Given the description of an element on the screen output the (x, y) to click on. 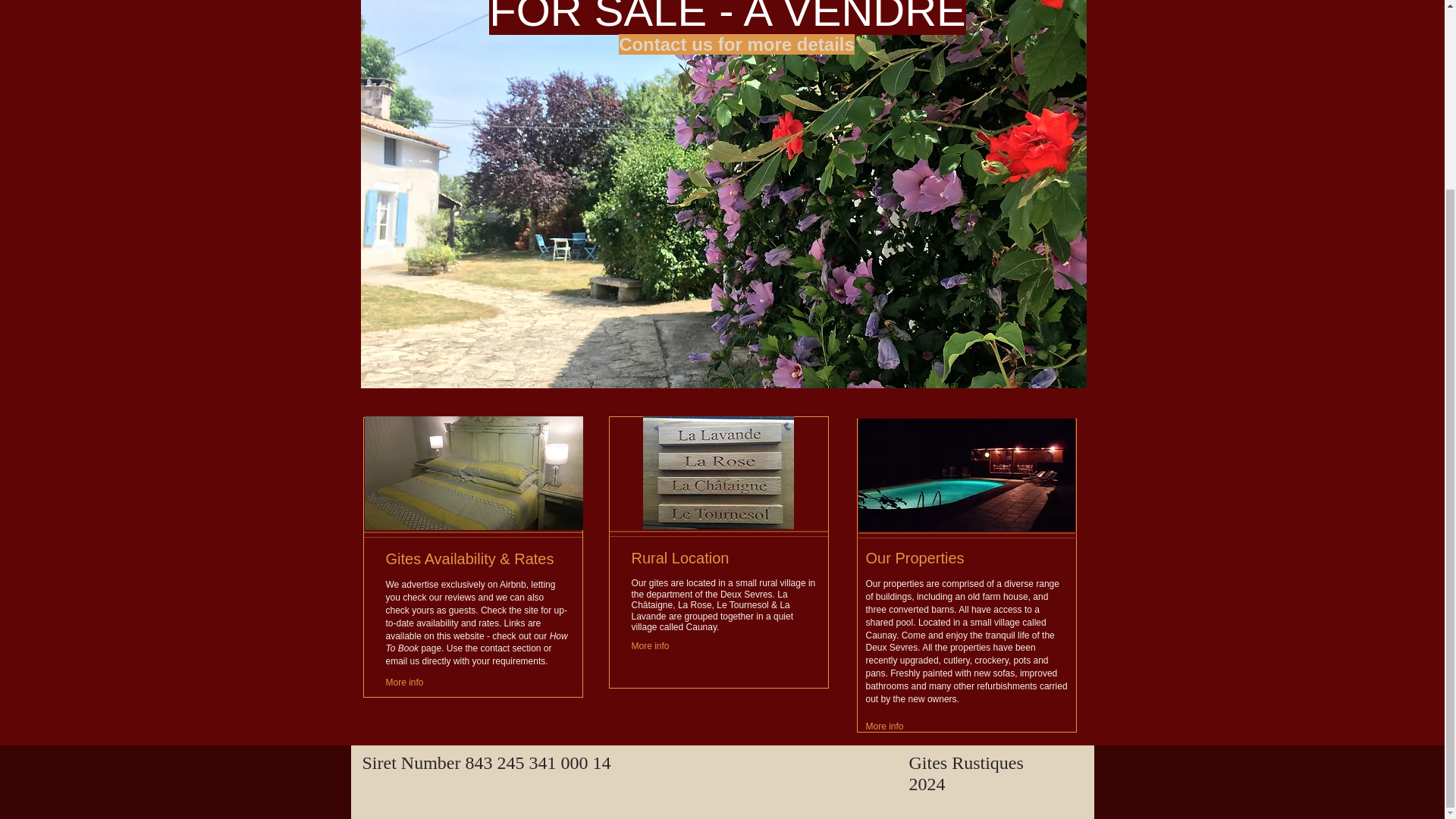
More info (421, 682)
More info (667, 645)
More info (901, 725)
